Given the description of an element on the screen output the (x, y) to click on. 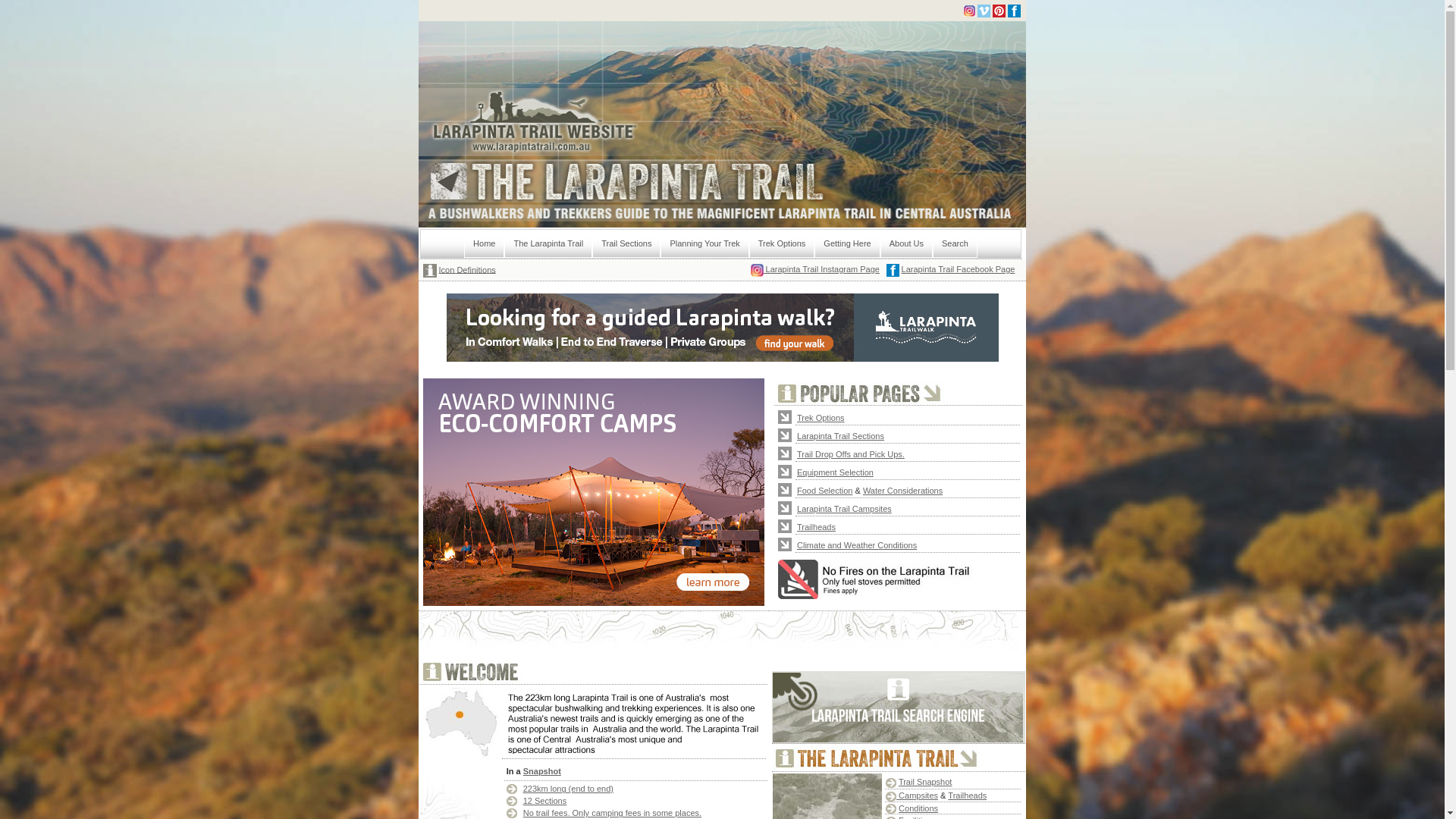
Larapinta Trail Instagram Page Element type: text (820, 268)
About Us Element type: text (906, 243)
Vimeo Element type: hover (982, 10)
Larapinta Trail Sections Element type: text (840, 434)
The Larapinta Trail Element type: text (548, 243)
Water Considerations Element type: text (902, 489)
Pintrest Element type: hover (997, 10)
Larapinta Trail Facebook Page Element type: text (958, 268)
Trail Snapshot Element type: text (925, 781)
Trail Drop Offs and Pick Ups. Element type: text (850, 453)
Trailheads Element type: text (816, 525)
Home Element type: text (484, 243)
Trek Options Element type: text (782, 243)
Campsites Element type: text (917, 795)
No Fires on the Larapinta Trail Element type: hover (878, 579)
Icon Definitions Element type: text (467, 268)
Search Element type: text (954, 243)
Trek Options Element type: text (820, 416)
Food Selection Element type: text (824, 489)
Larapinta Trail Campsites Element type: text (844, 507)
Larapinta Trail Element type: hover (877, 757)
No trail fees. Only camping fees in some places. Element type: text (612, 812)
Trailheads Element type: text (966, 795)
Planning Your Trek Element type: text (704, 243)
223km long (end to end) Element type: text (568, 788)
Conditions Element type: text (918, 807)
Climate and Weather Conditions Element type: text (856, 544)
Snapshot Element type: text (542, 770)
Getting Here Element type: text (846, 243)
Larapinta Trail Facebook Page Element type: hover (1013, 10)
Equipment Selection Element type: text (835, 471)
Trail Sections Element type: text (626, 243)
12 Sections Element type: text (544, 800)
